Given the description of an element on the screen output the (x, y) to click on. 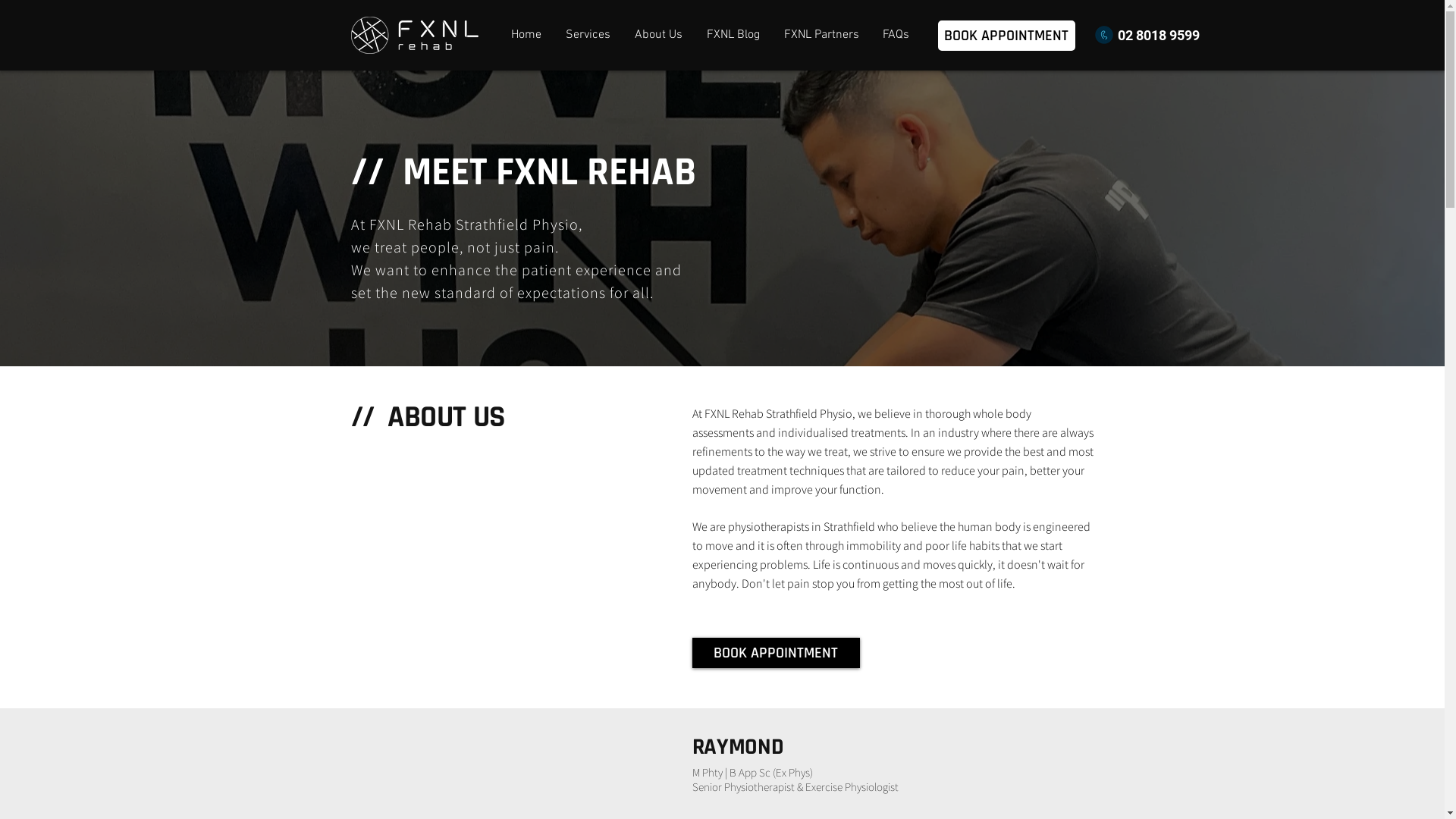
02 8018 9599 Element type: text (1158, 35)
FXNL Partners Element type: text (821, 34)
BOOK APPOINTMENT Element type: text (775, 655)
About Us Element type: text (657, 34)
Call Us Now Element type: hover (1103, 34)
Home Element type: text (525, 34)
BOOK APPOINTMENT Element type: text (1005, 35)
Services Element type: text (587, 34)
FAQs Element type: text (895, 34)
FXNL Blog Element type: text (732, 34)
